Given the description of an element on the screen output the (x, y) to click on. 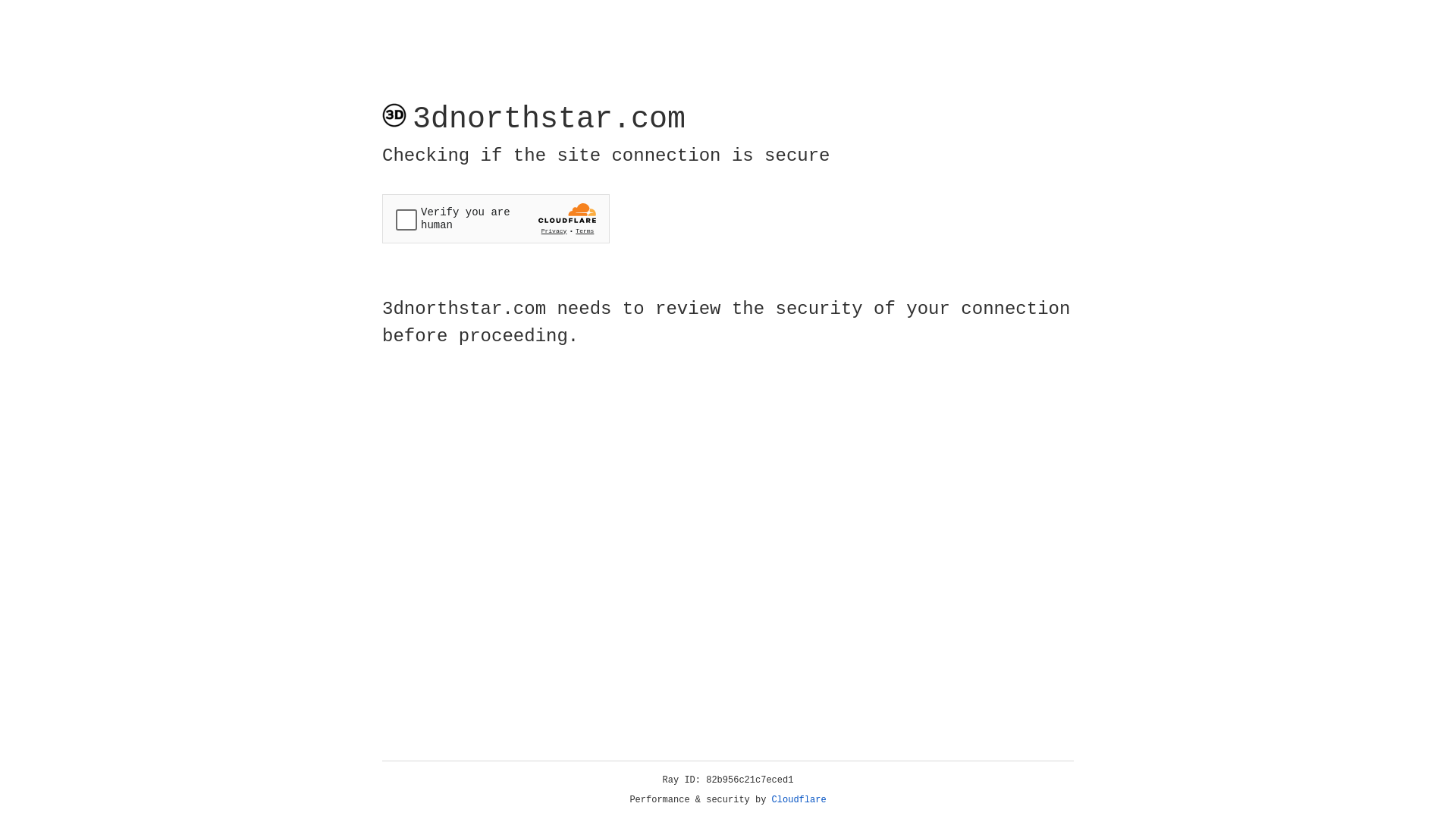
Cloudflare Element type: text (798, 799)
Widget containing a Cloudflare security challenge Element type: hover (495, 218)
